Given the description of an element on the screen output the (x, y) to click on. 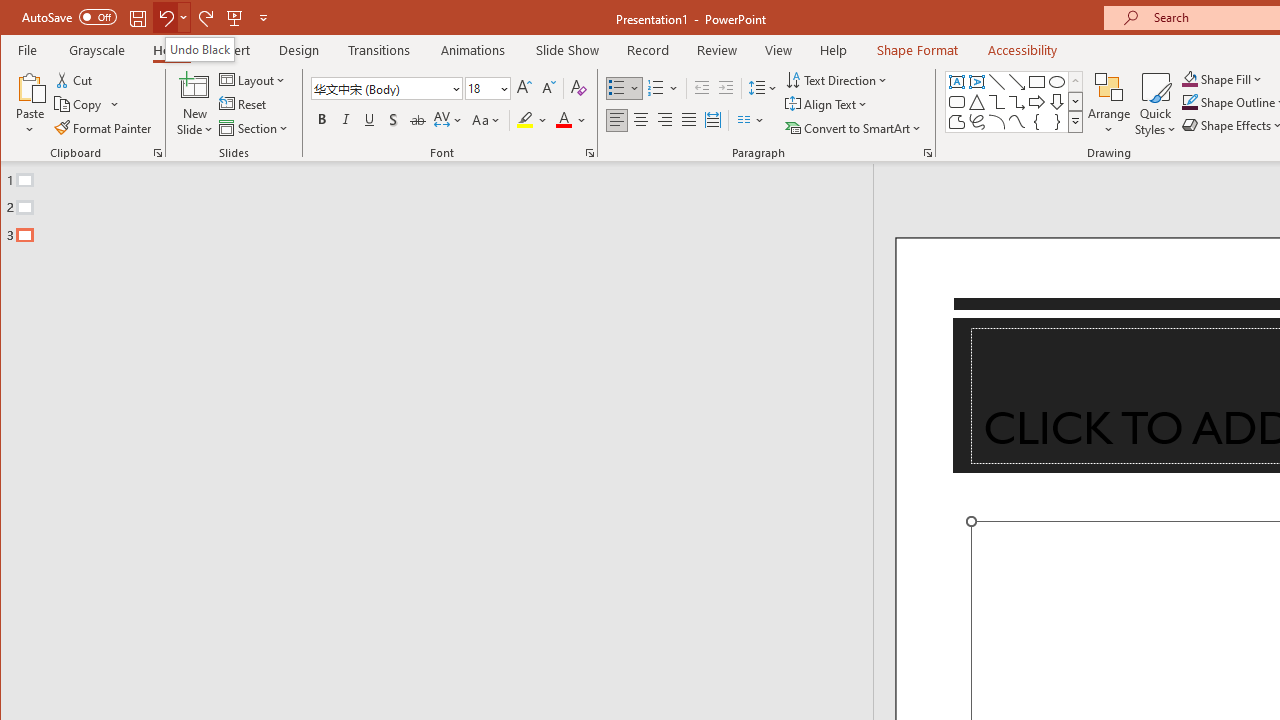
Align Right (664, 119)
Rectangle: Rounded Corners (956, 102)
Class: NetUIImage (1076, 121)
Open (502, 88)
Oval (1057, 82)
Copy (79, 103)
Change Case (486, 119)
Shapes (1074, 121)
Connector: Elbow Arrow (1016, 102)
Outline (445, 203)
Rectangle (1036, 82)
Undo Black (200, 48)
